Given the description of an element on the screen output the (x, y) to click on. 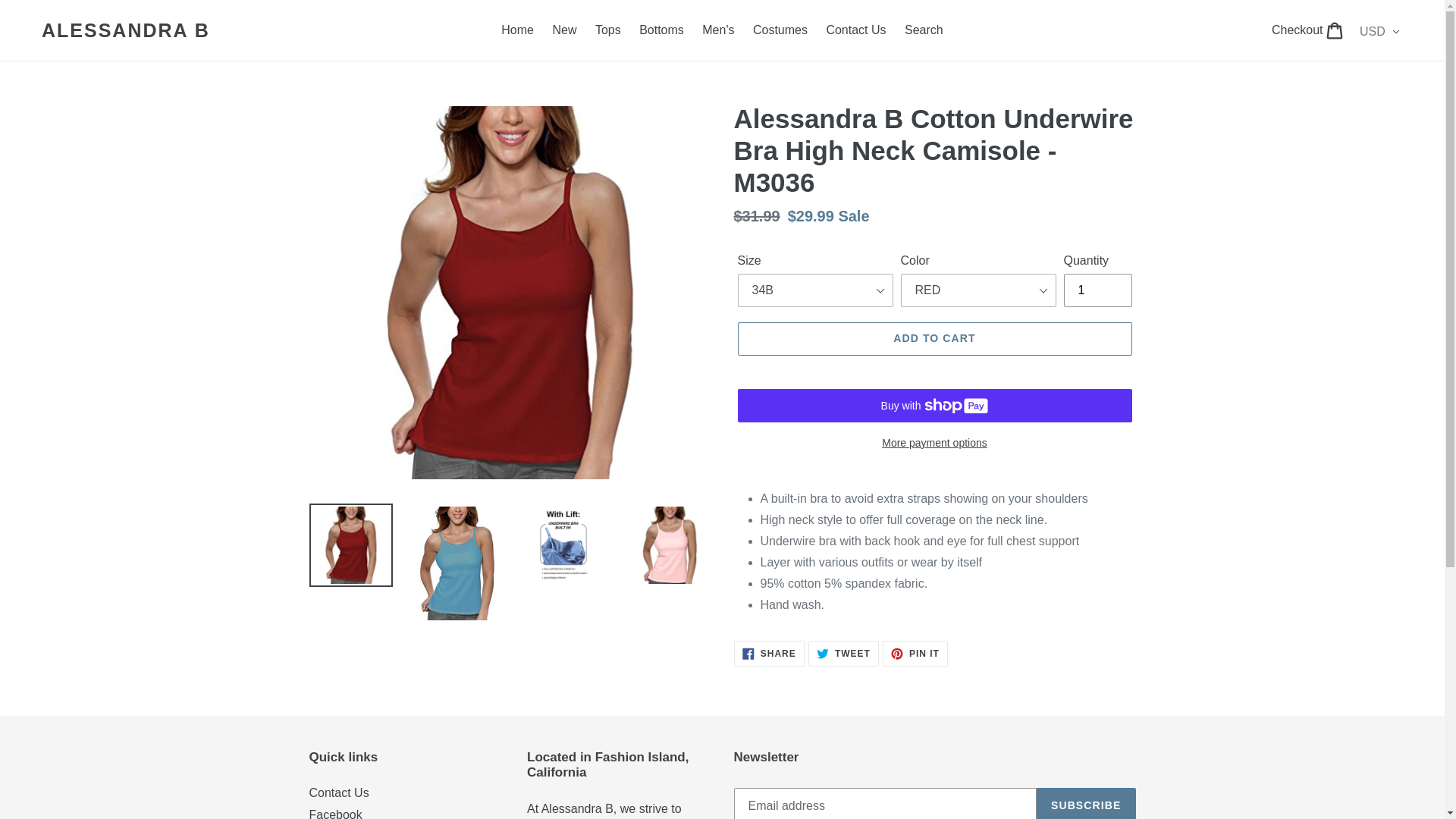
More payment options (933, 443)
ALESSANDRA B (125, 29)
Home (843, 653)
Bottoms (517, 29)
ADD TO CART (661, 29)
1 (933, 338)
Contact Us (914, 653)
Contact Us (1096, 290)
Search (855, 29)
Facebook (1308, 29)
Costumes (769, 653)
